Given the description of an element on the screen output the (x, y) to click on. 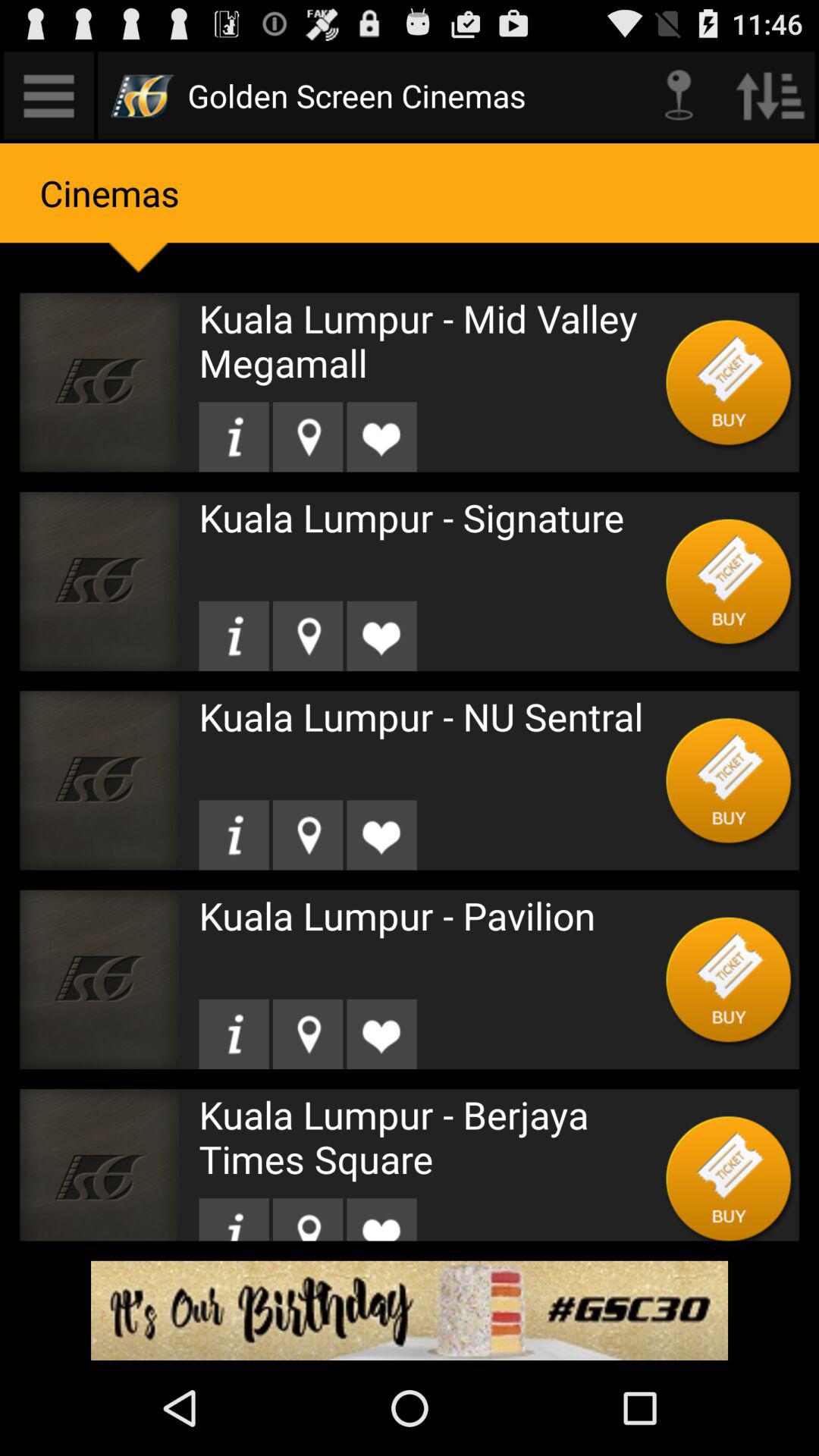
open information (234, 835)
